Given the description of an element on the screen output the (x, y) to click on. 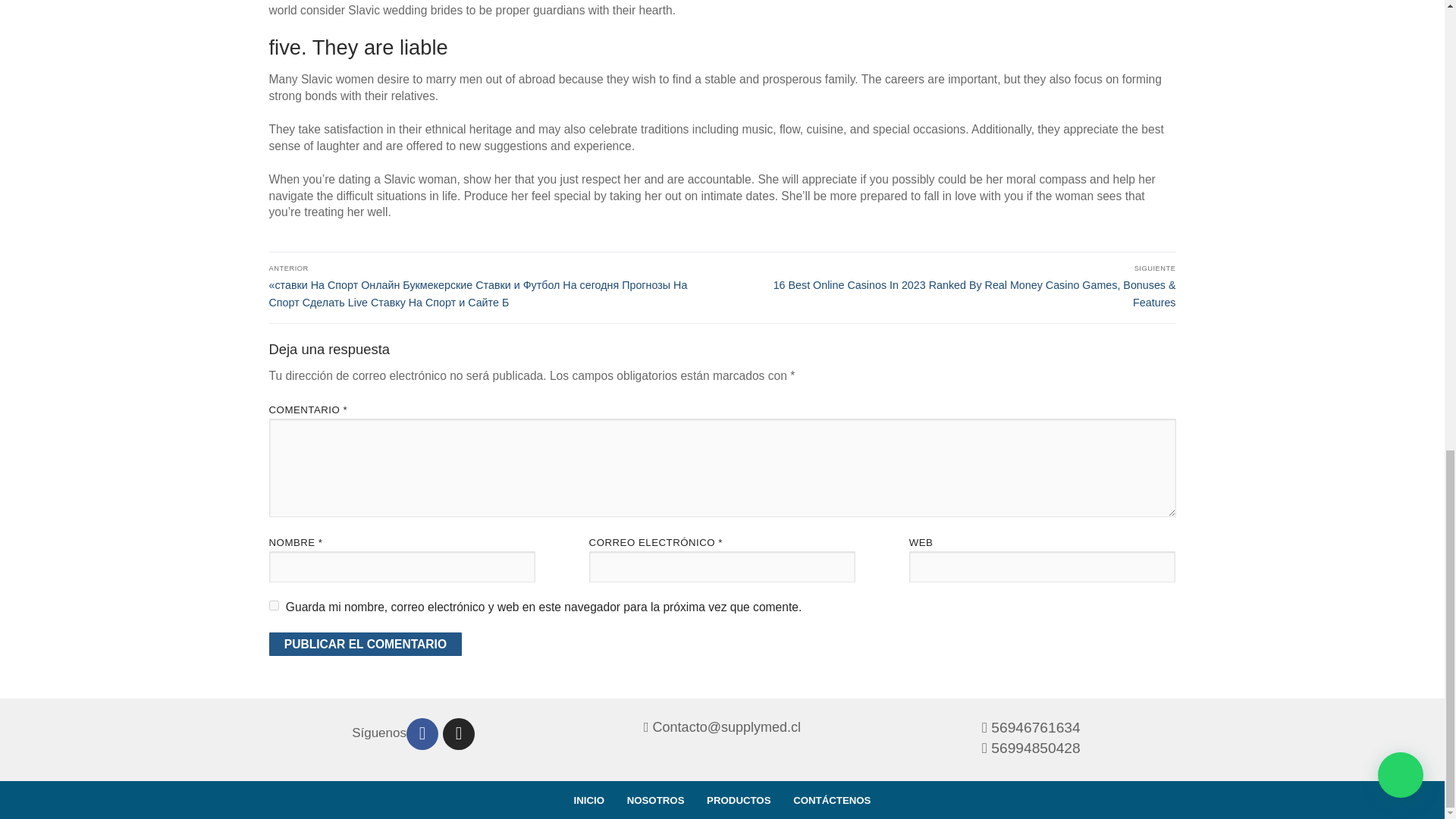
Publicar el comentario (364, 644)
yes (272, 605)
INICIO (589, 800)
Facebook (421, 733)
PRODUCTOS (738, 800)
NOSOTROS (655, 800)
Instagram (458, 733)
Publicar el comentario (364, 644)
